Given the description of an element on the screen output the (x, y) to click on. 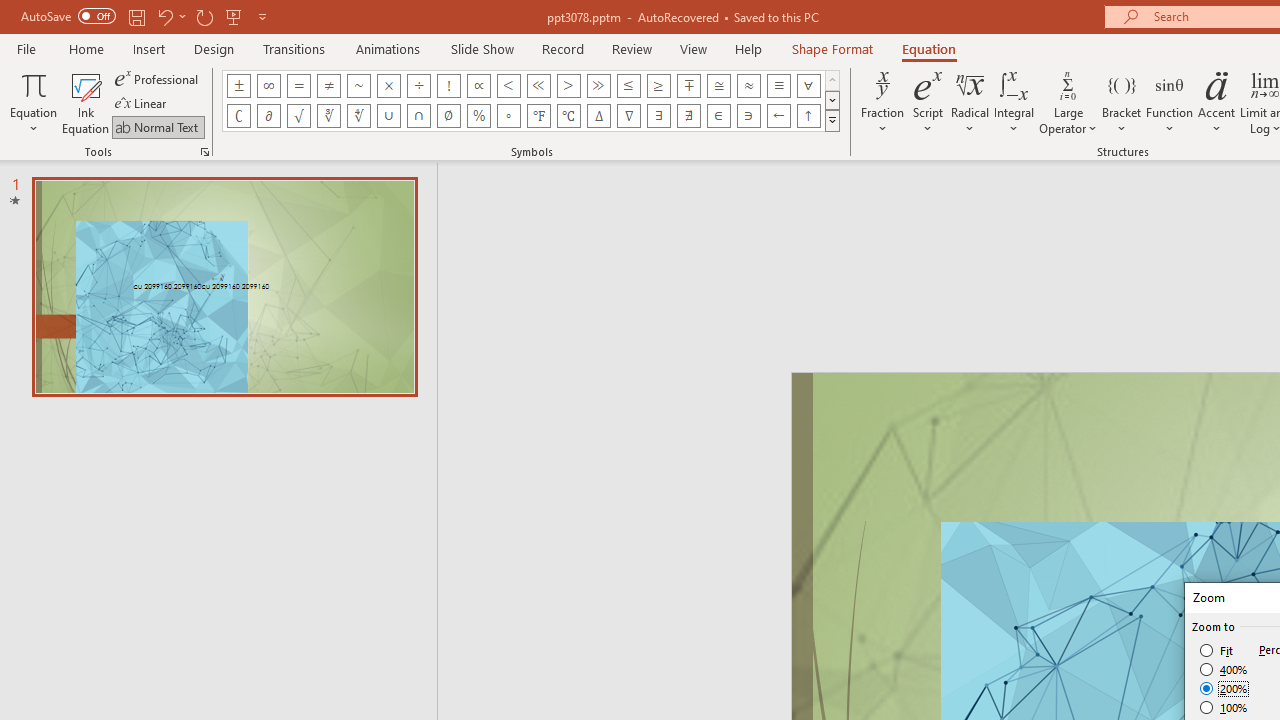
Ink Equation (86, 102)
Normal Text (158, 126)
Equation Symbol There Does Not Exist (689, 115)
Equation Symbol Degrees Fahrenheit (538, 115)
Equation Symbol Greater Than (568, 85)
Equation Symbols (832, 120)
Equation Symbol Equal (298, 85)
Equation Symbol Element Of (718, 115)
